Given the description of an element on the screen output the (x, y) to click on. 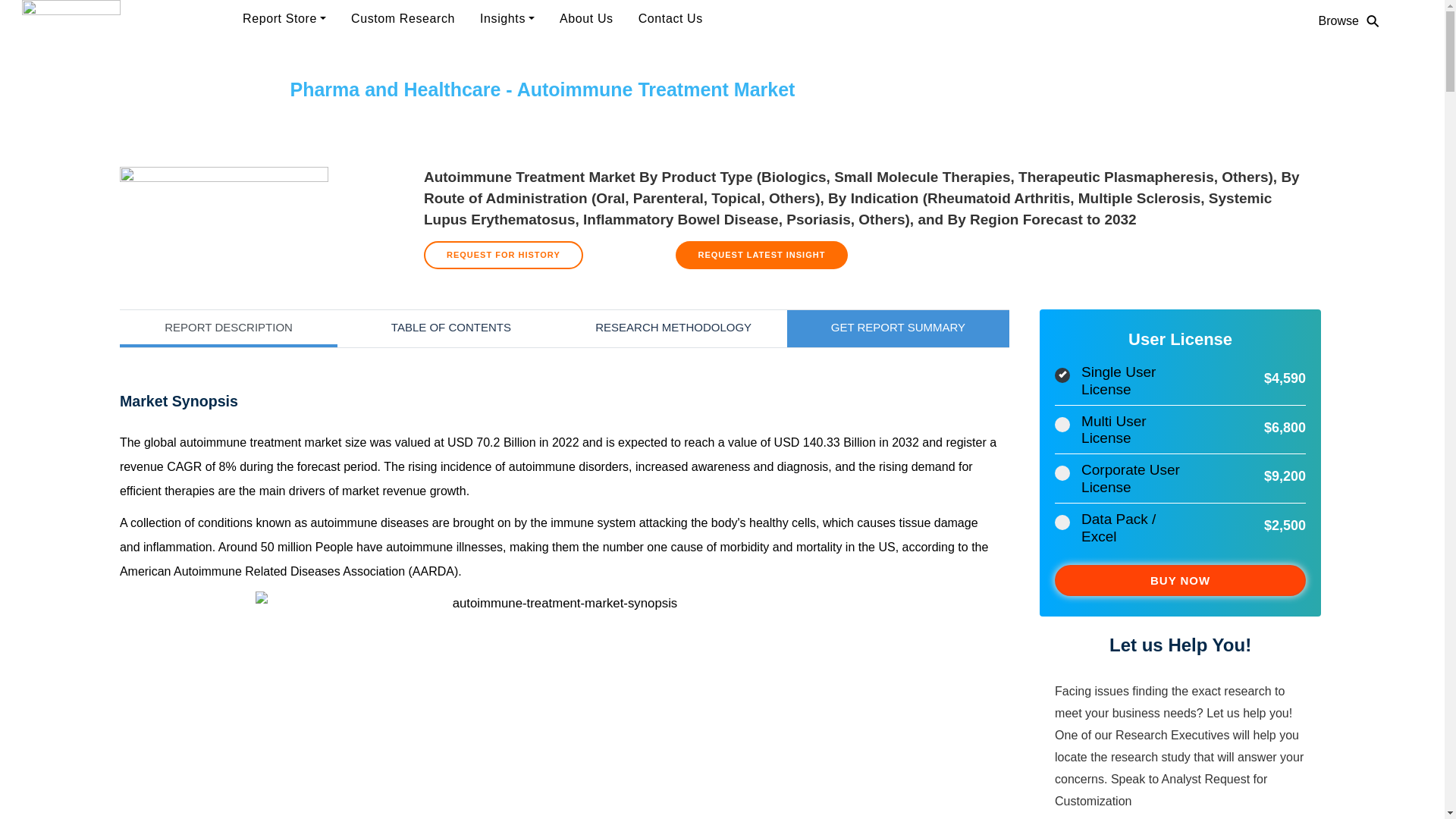
REQUEST LATEST INSIGHT (761, 254)
REQUEST FOR HISTORY (503, 254)
Report Store (287, 19)
Custom Research (405, 19)
Insights (510, 19)
BUY NOW (1180, 580)
About Us (589, 19)
Contact Us (674, 19)
